Given the description of an element on the screen output the (x, y) to click on. 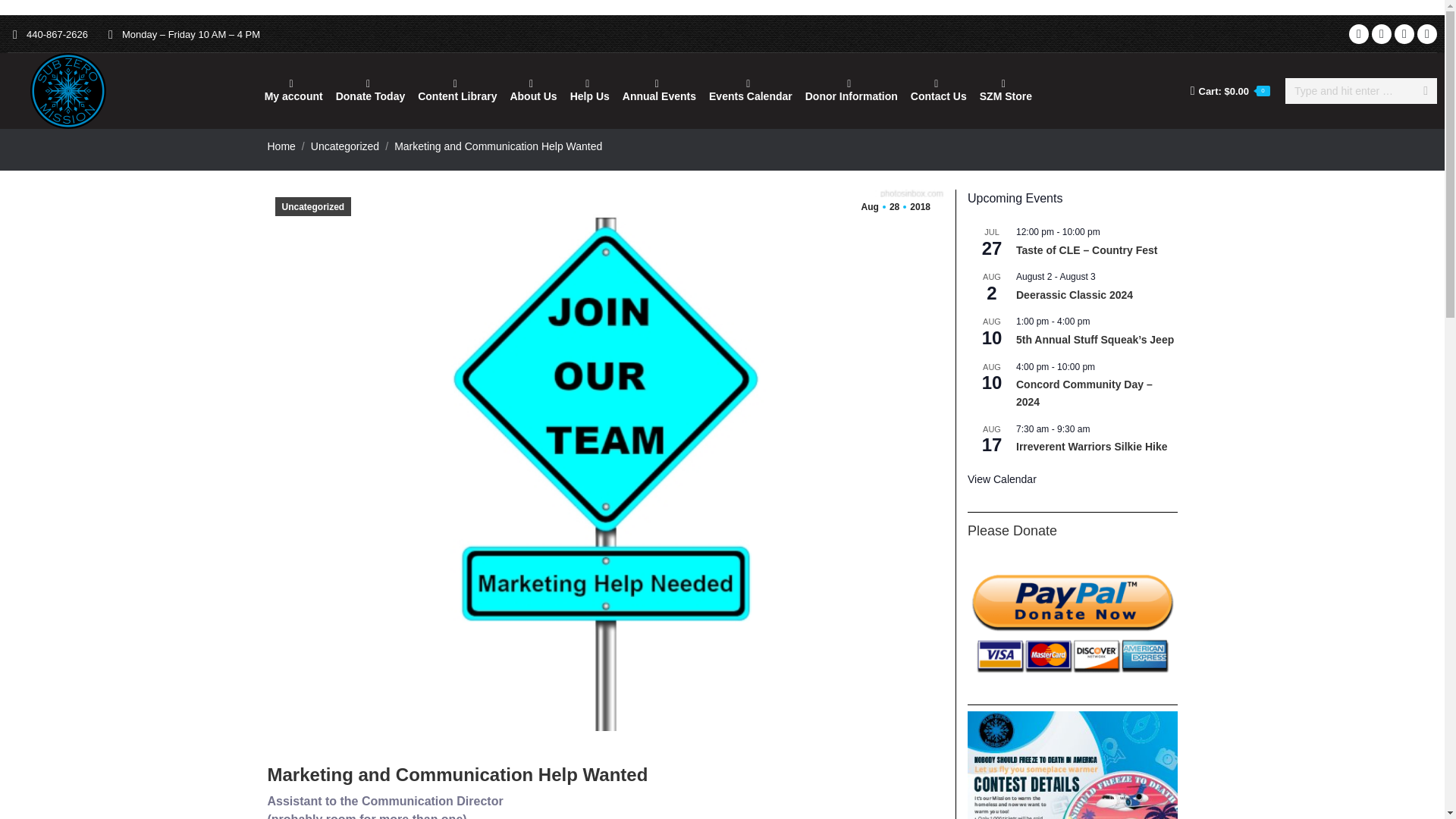
Annual Events (658, 90)
Twitter page opens in new window (1426, 34)
YouTube page opens in new window (1403, 34)
Content Library (457, 90)
Events Calendar (750, 90)
YouTube page opens in new window (1403, 34)
Donate Today (371, 90)
Facebook page opens in new window (1358, 34)
Search form (1361, 90)
Instagram page opens in new window (1381, 34)
Uncategorized (344, 145)
Donor Information (851, 90)
Twitter page opens in new window (1426, 34)
My account (294, 90)
Home (280, 145)
